Given the description of an element on the screen output the (x, y) to click on. 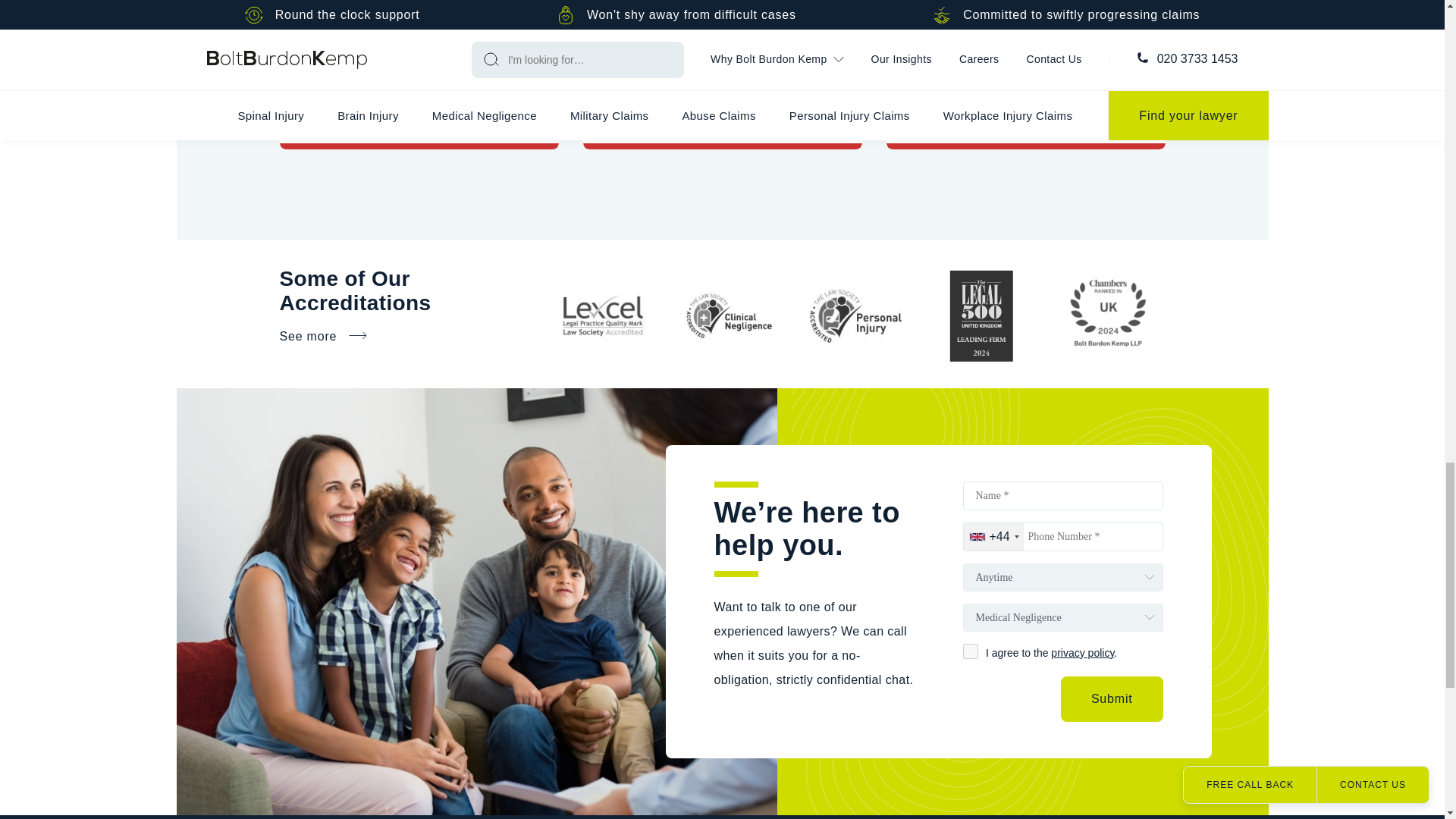
United Kingdom (992, 536)
Happy,Man,Using,Wheelchair,Hugging,With,Wife (418, 25)
1 (970, 651)
Two,Friends,Talking,Sitting,In,A,Couch,In,The,Living (721, 25)
Submit (1112, 698)
